Given the description of an element on the screen output the (x, y) to click on. 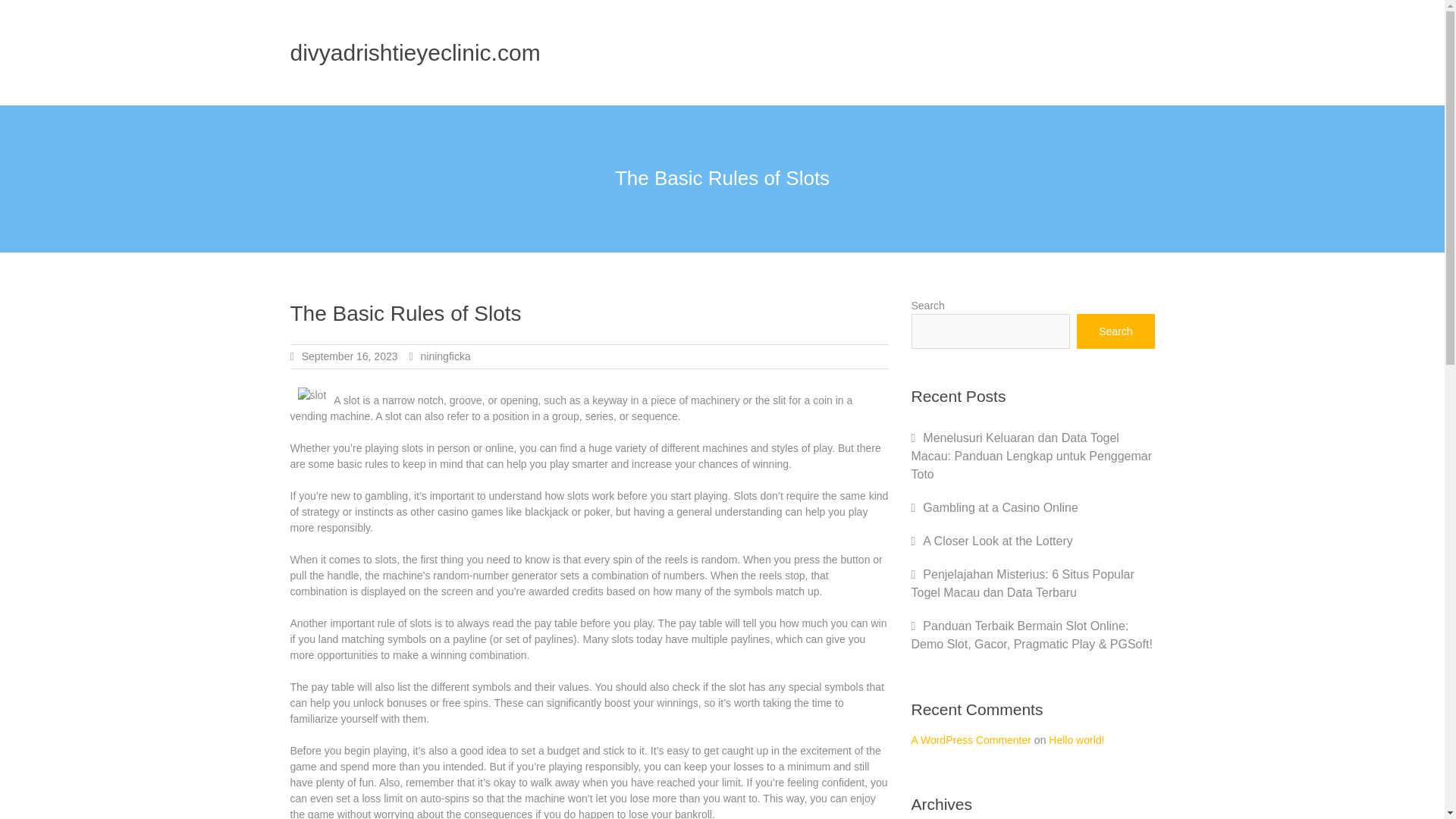
Hello world! (1075, 739)
niningficka (445, 356)
divyadrishtieyeclinic.com (414, 52)
A WordPress Commenter (970, 739)
September 16, 2023 (349, 356)
Gambling at a Casino Online (1000, 507)
A Closer Look at the Lottery (997, 540)
Search (1115, 330)
